Given the description of an element on the screen output the (x, y) to click on. 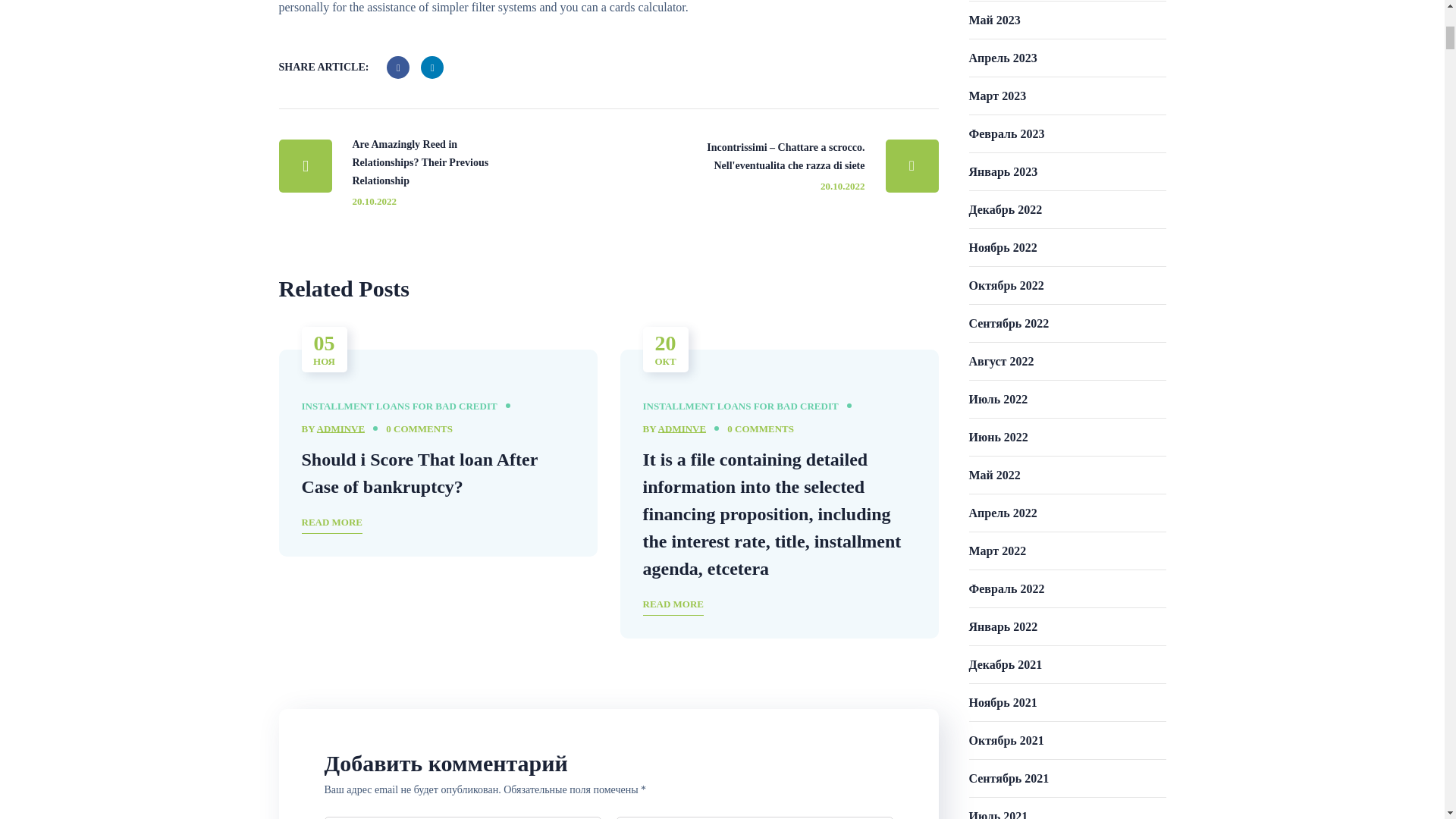
READ MORE (331, 523)
0 COMMENTS (418, 428)
Leave a reply (759, 428)
INSTALLMENT LOANS FOR BAD CREDIT (740, 405)
READ MORE (673, 605)
Leave a reply (418, 428)
INSTALLMENT LOANS FOR BAD CREDIT (399, 405)
ADMINVE (682, 428)
